Given the description of an element on the screen output the (x, y) to click on. 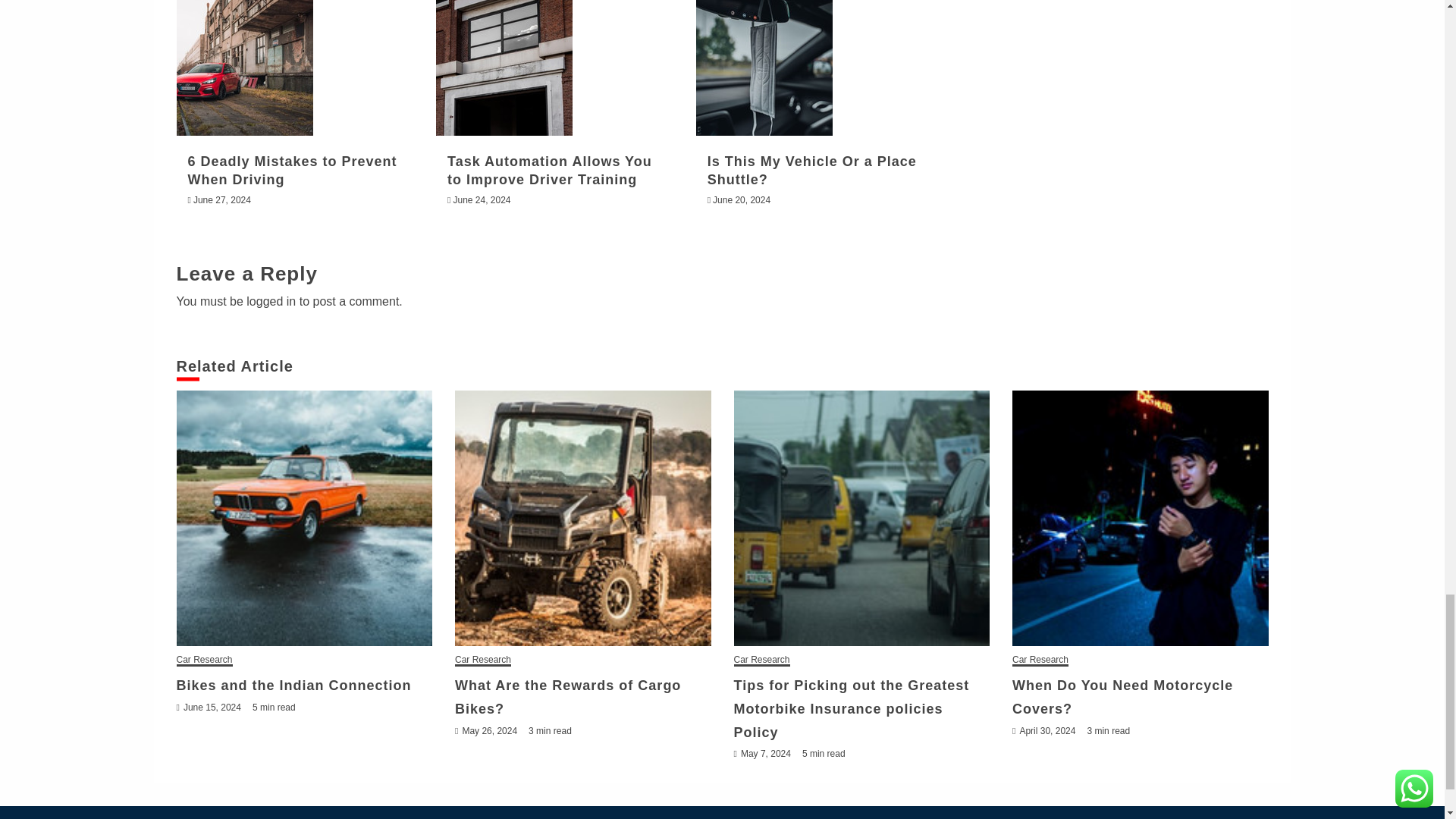
Is This My Vehicle Or a Place Shuttle? (763, 67)
June 24, 2024 (481, 199)
June 27, 2024 (221, 199)
6 Deadly Mistakes to Prevent When Driving (244, 67)
What Are the Rewards of Cargo Bikes? (582, 518)
6 Deadly Mistakes to Prevent When Driving (292, 169)
Task Automation Allows You to Improve Driver Training (503, 67)
Is This My Vehicle Or a Place Shuttle? (812, 169)
Task Automation Allows You to Improve Driver Training (549, 169)
Bikes and the Indian Connection (304, 518)
June 20, 2024 (741, 199)
